Given the description of an element on the screen output the (x, y) to click on. 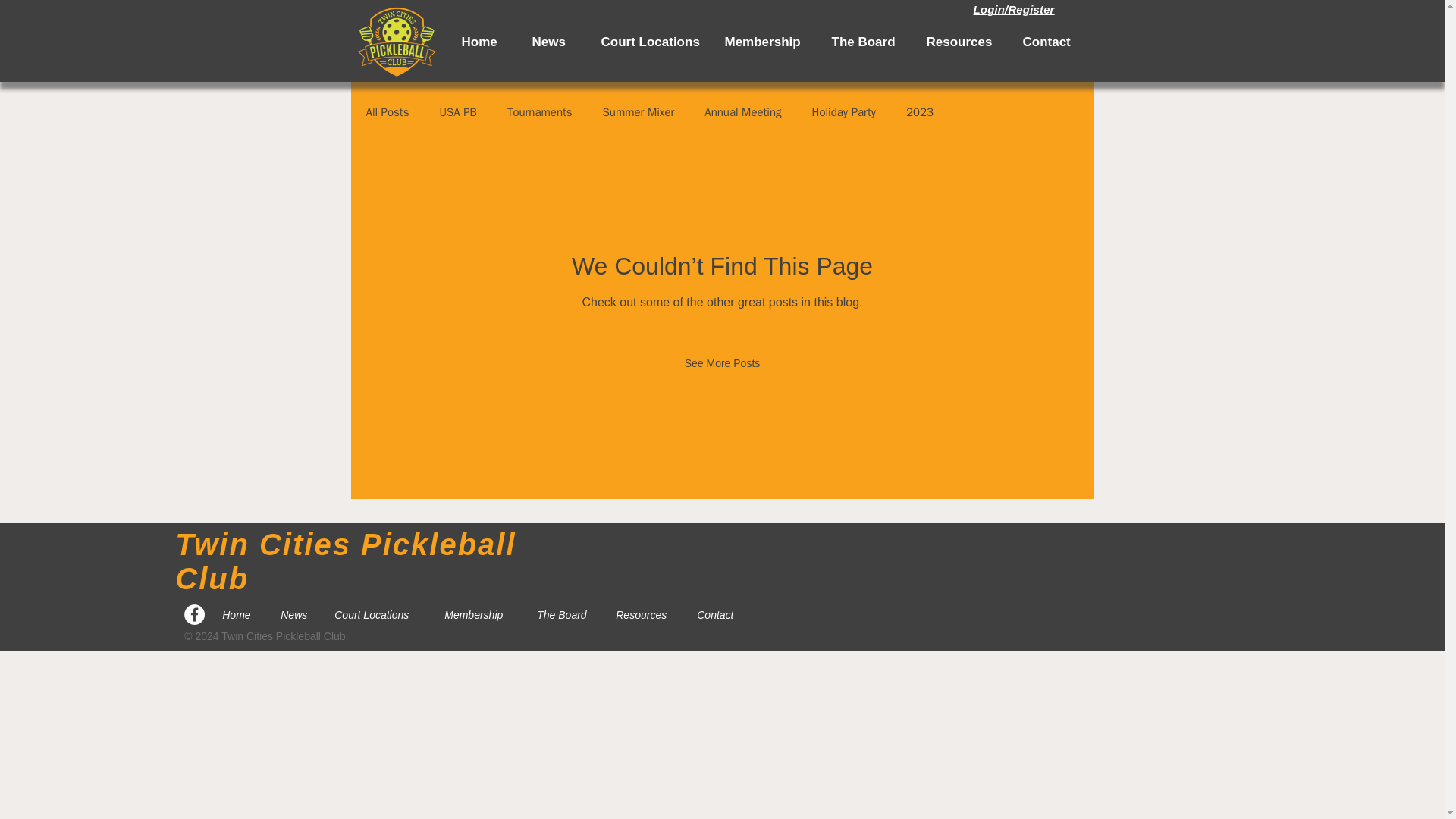
Contact (1019, 42)
See More Posts (722, 363)
Holiday Party (844, 111)
Membership (478, 614)
Home (454, 42)
Court Locations (620, 42)
News (525, 42)
Court Locations (377, 614)
Annual Meeting (742, 111)
Resources (933, 42)
News (296, 614)
Twin Cities Pickleball Club (344, 561)
The Board (564, 614)
The Board (836, 42)
USA PB (457, 111)
